Given the description of an element on the screen output the (x, y) to click on. 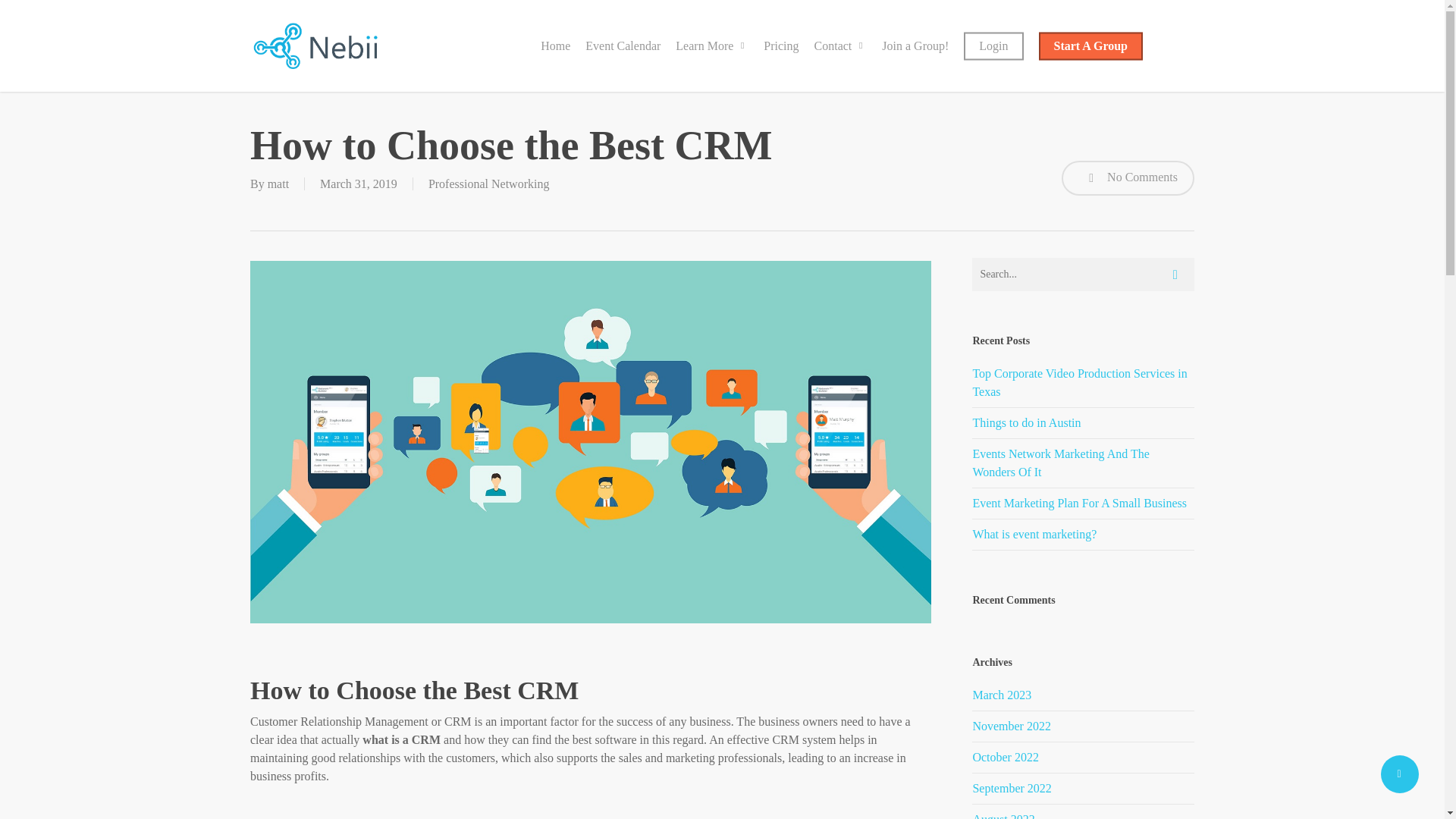
Things to do in Austin (1026, 422)
Professional Networking (489, 183)
Pricing (780, 45)
Contact (840, 45)
Start A Group (1090, 45)
matt (277, 183)
No Comments (1127, 177)
Login (993, 45)
Event Calendar (623, 45)
Top Corporate Video Production Services in Texas (1079, 382)
